Given the description of an element on the screen output the (x, y) to click on. 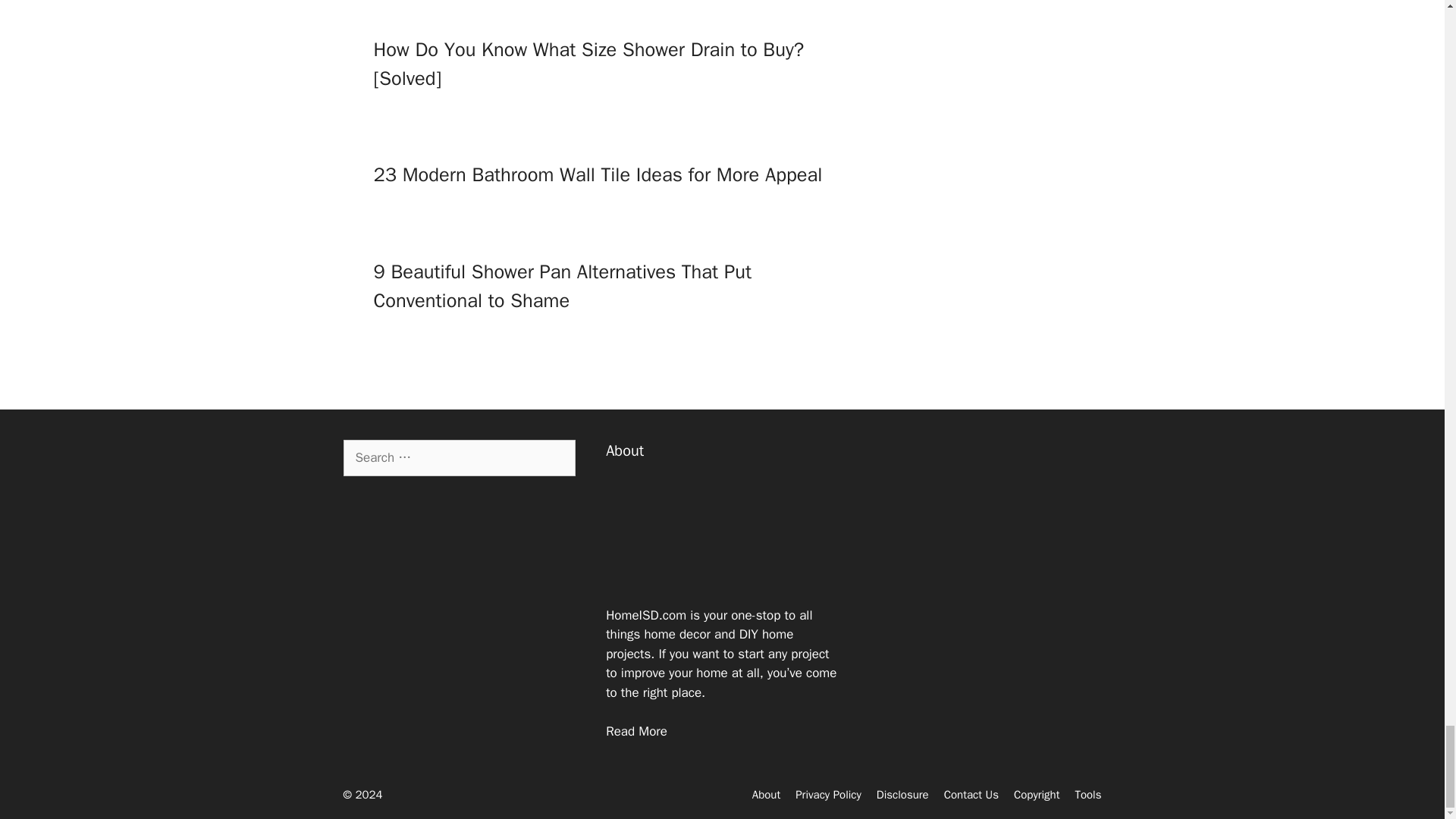
23 Modern Bathroom Wall Tile Ideas for More Appeal (597, 174)
Search for: (458, 457)
